Given the description of an element on the screen output the (x, y) to click on. 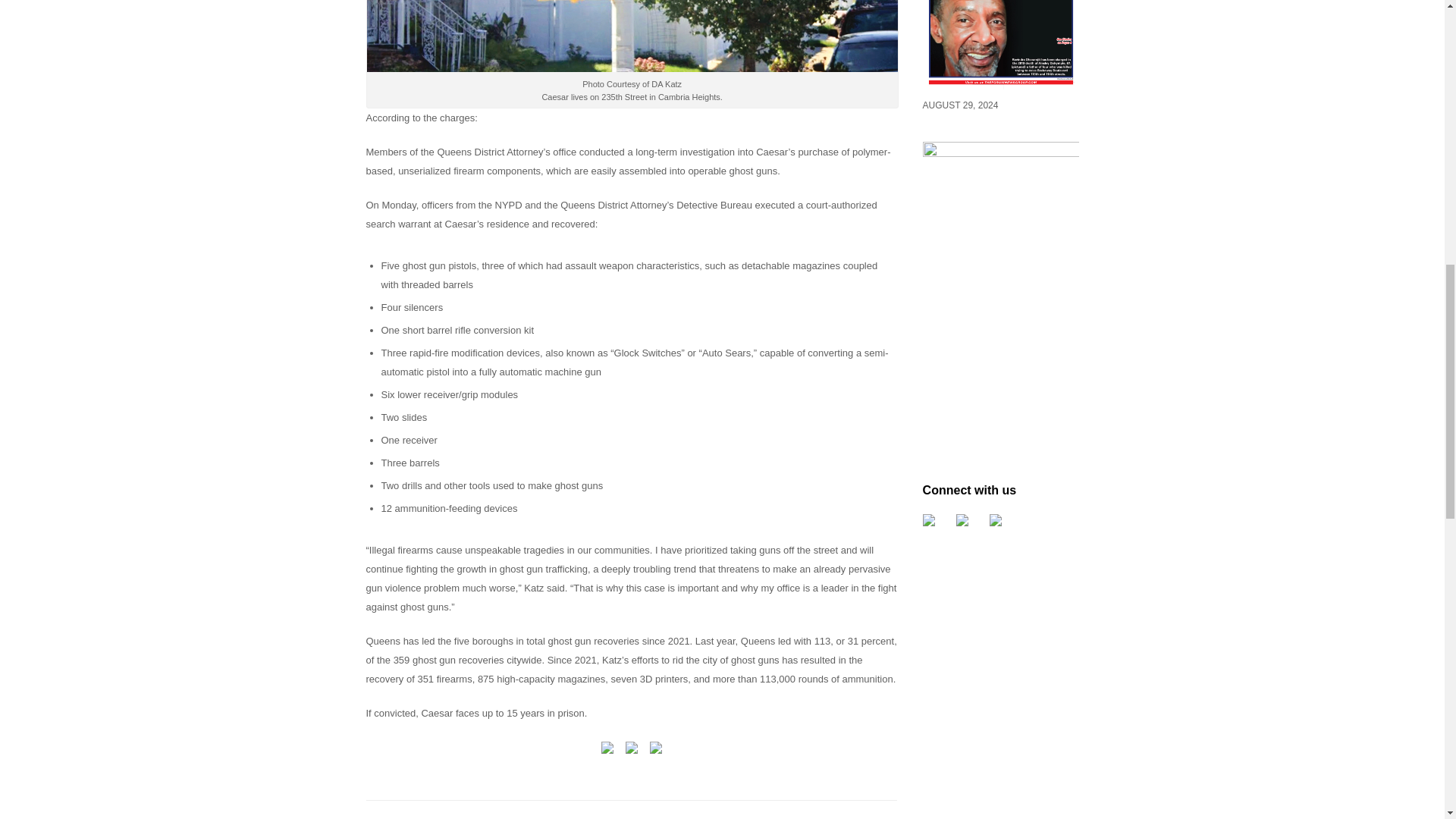
Follow on Facebook (935, 526)
Share on Facebook (606, 751)
THIS WEEK (1000, 86)
Share on Twitter (631, 751)
Share on Reddit (655, 751)
